Given the description of an element on the screen output the (x, y) to click on. 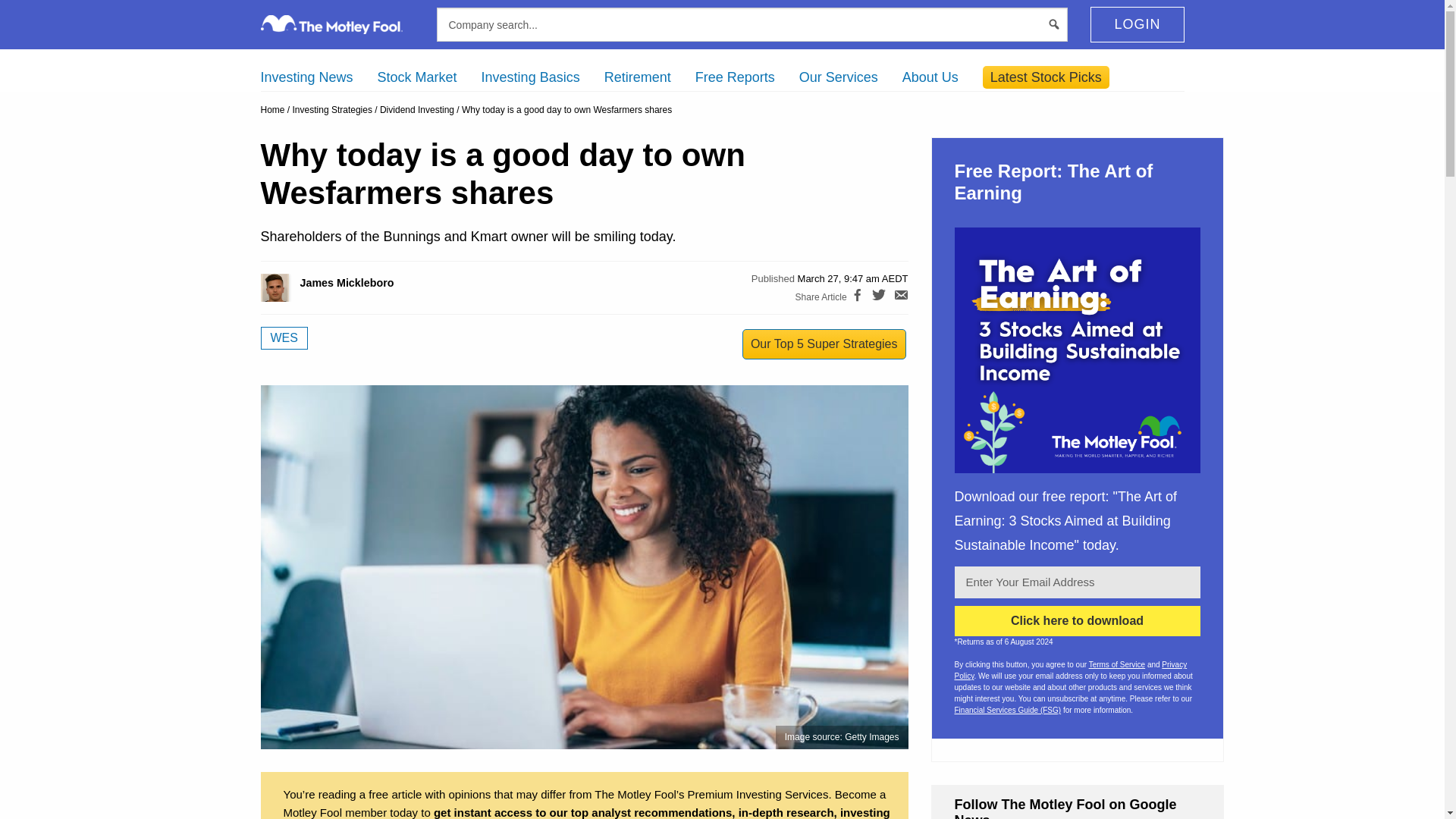
Stock Market (417, 78)
James Mickleboro (290, 287)
LOGIN (1136, 24)
Investing News (306, 78)
See more articles about WES (283, 337)
